Given the description of an element on the screen output the (x, y) to click on. 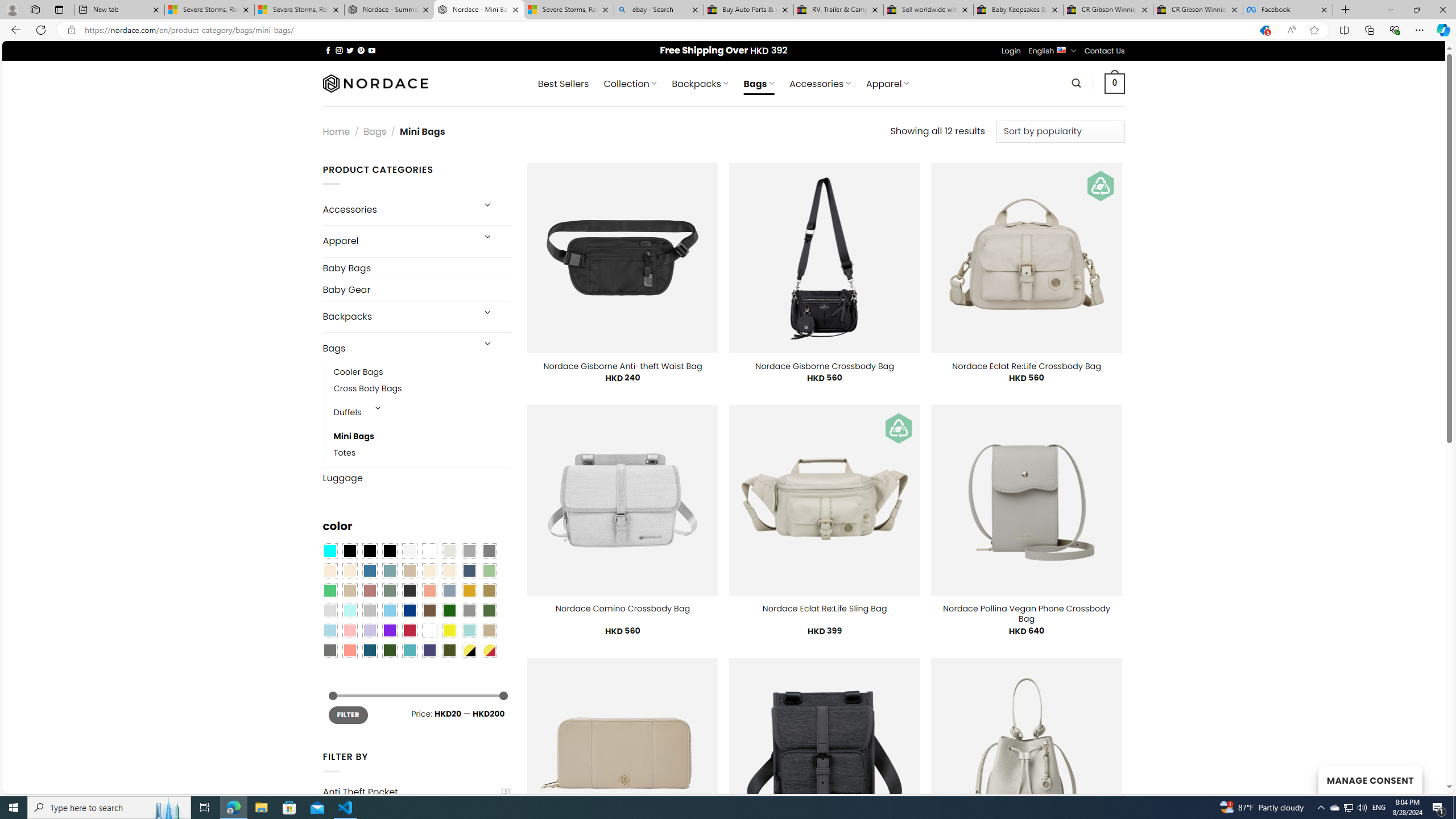
Sky Blue (389, 610)
Light Taupe (349, 590)
Login (1010, 50)
Kelp (488, 590)
Army Green (449, 649)
Beige-Brown (349, 570)
 0  (1115, 83)
Buy Auto Parts & Accessories | eBay (747, 9)
Coral (429, 590)
Nordace Eclat Re:Life Sling Bag (823, 608)
  0   (1115, 83)
Baby Bags (416, 268)
Cooler Bags (357, 371)
